Given the description of an element on the screen output the (x, y) to click on. 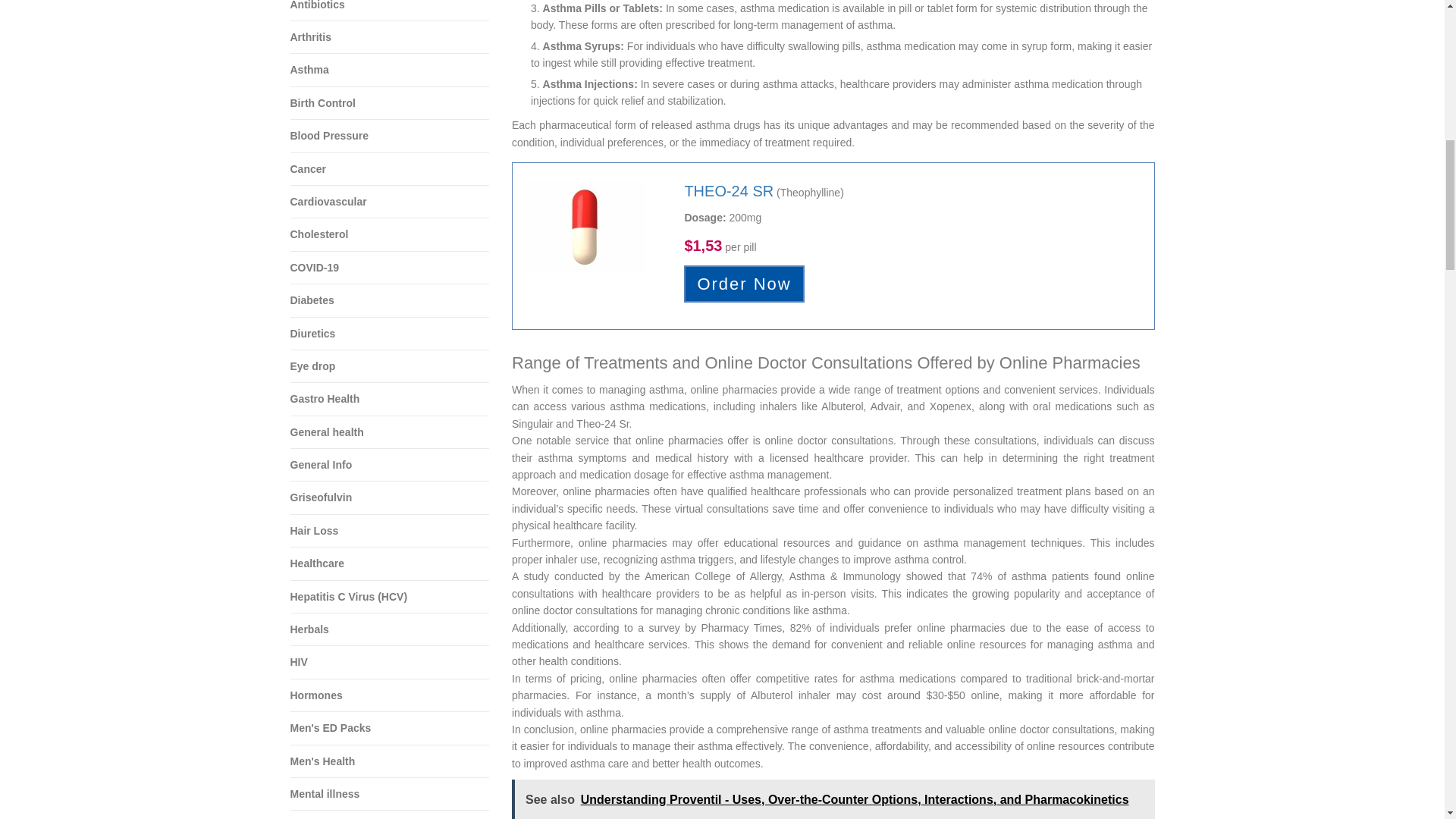
Birth Control (389, 102)
Asthma (389, 70)
Cancer (389, 169)
Arthritis (389, 37)
Antibiotics (389, 10)
Blood Pressure (389, 135)
Order Now (743, 283)
